Given the description of an element on the screen output the (x, y) to click on. 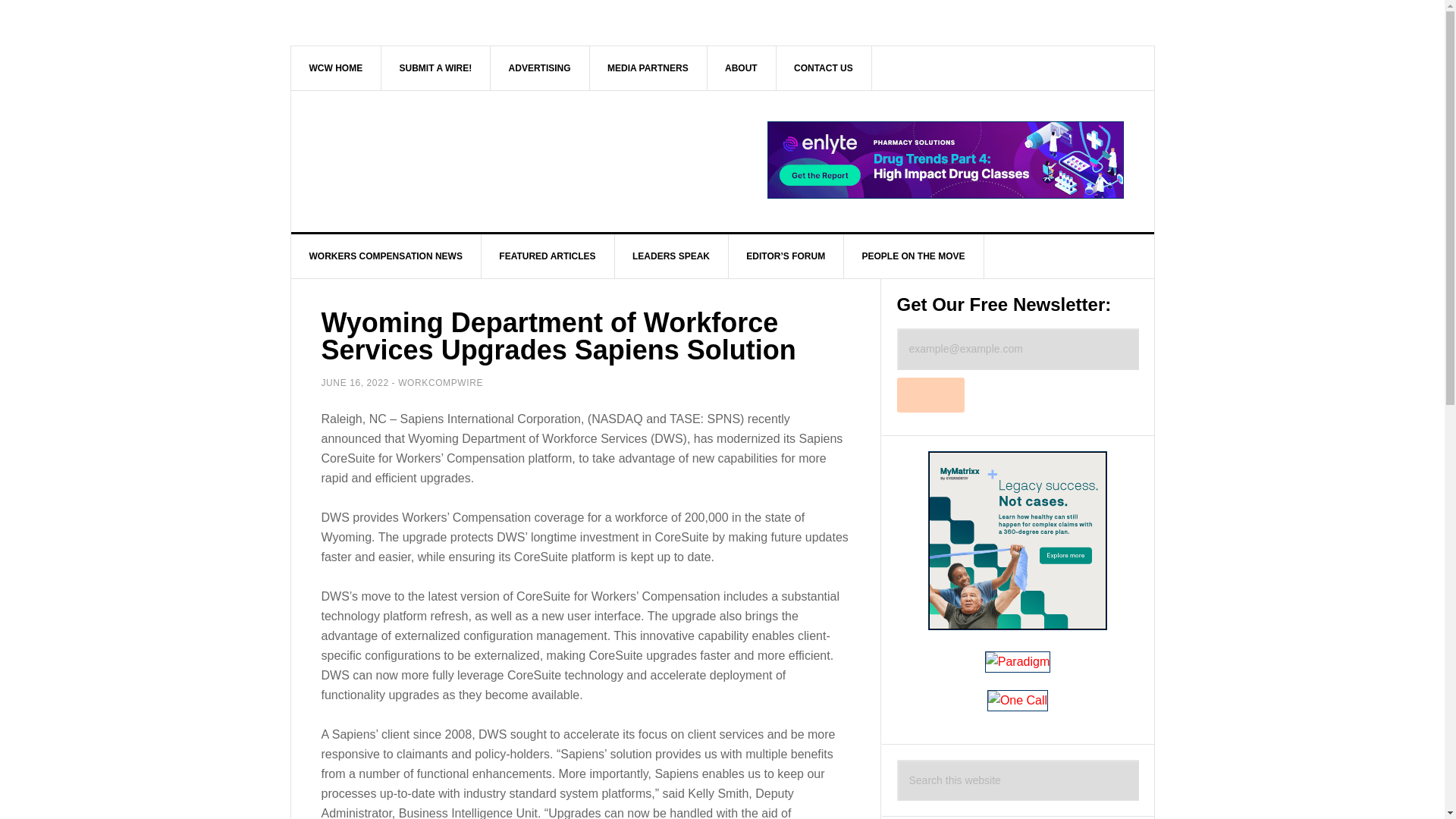
WCW HOME (336, 67)
PEOPLE ON THE MOVE (913, 256)
media-partners-workcompwire (648, 67)
WORKERS COMPENSATION NEWS (386, 256)
MEDIA PARTNERS (648, 67)
ADVERTISING (539, 67)
LEADERS SPEAK (671, 256)
Sign up (929, 394)
